Given the description of an element on the screen output the (x, y) to click on. 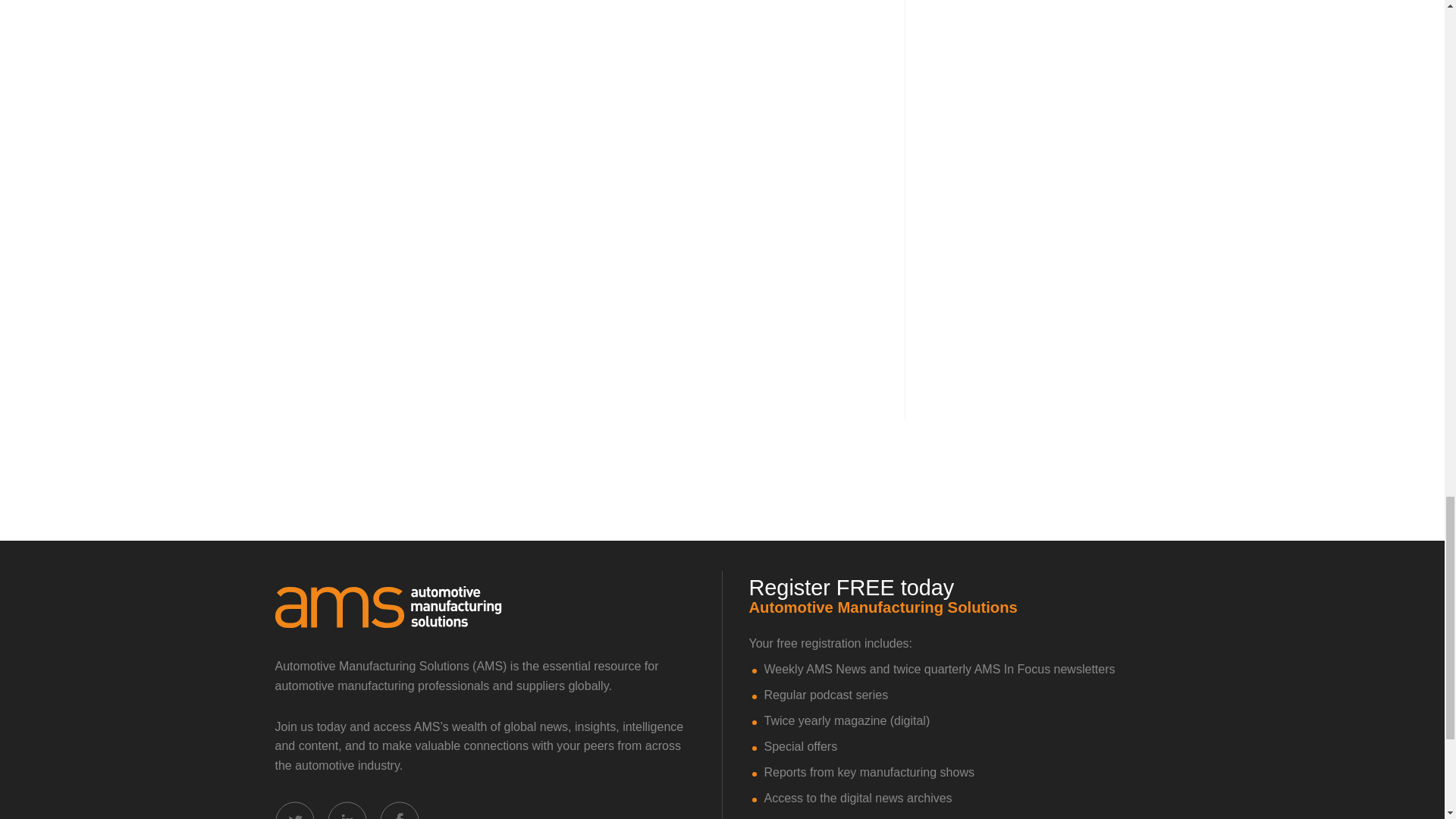
Connect with us on Facebook (399, 810)
Connect with us on Twitter (294, 810)
Connect with us on Linked In (346, 810)
